Given the description of an element on the screen output the (x, y) to click on. 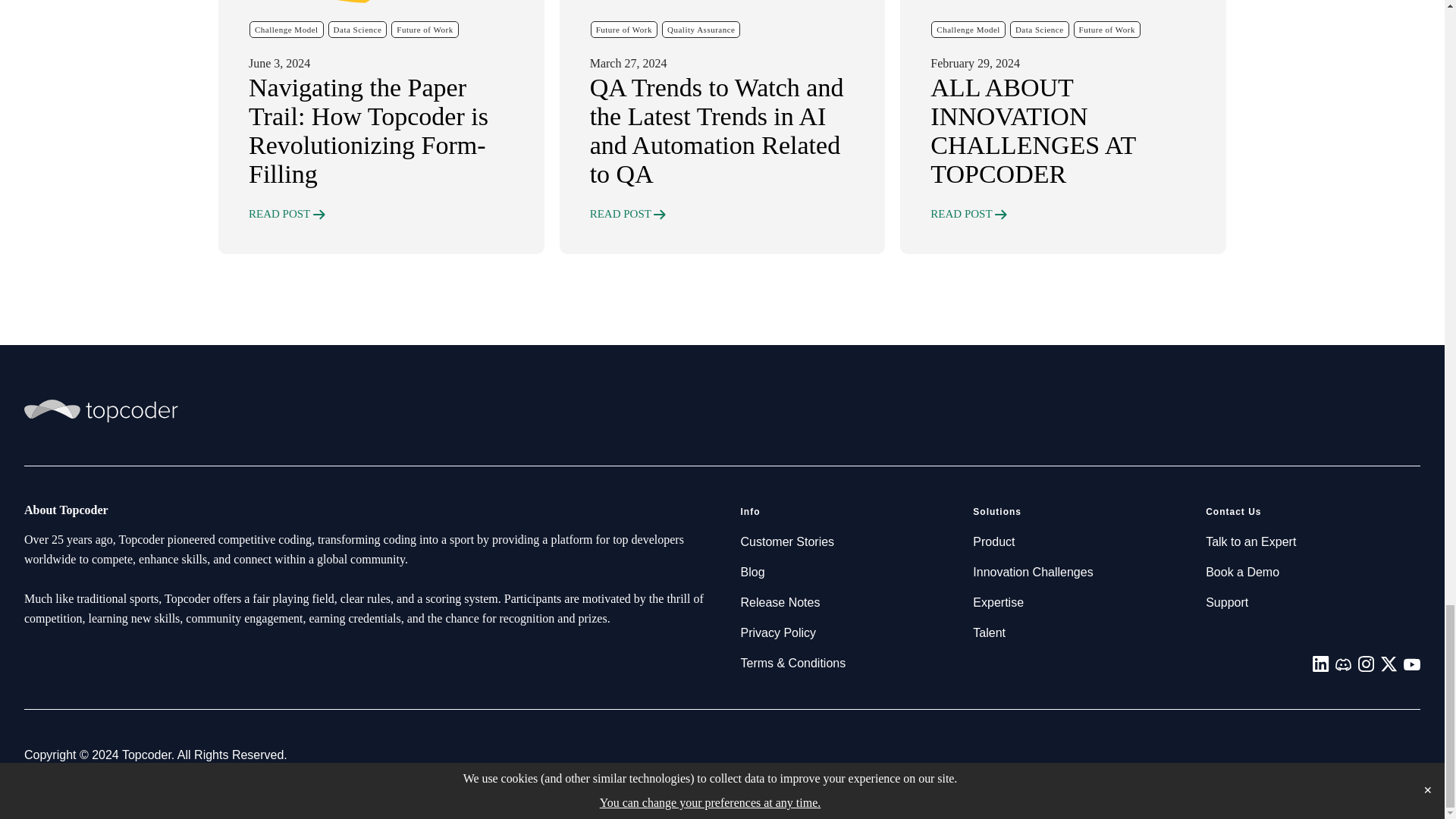
Future of Work (1107, 29)
READ POST (968, 214)
Customer Stories (786, 541)
Future of Work (424, 29)
Future of Work (624, 29)
Quality Assurance (700, 29)
Data Science (1039, 29)
Blog (751, 571)
Challenge Model (285, 29)
Data Science (358, 29)
ALL ABOUT INNOVATION CHALLENGES AT TOPCODER (1062, 131)
READ POST (627, 214)
READ POST (286, 214)
